Given the description of an element on the screen output the (x, y) to click on. 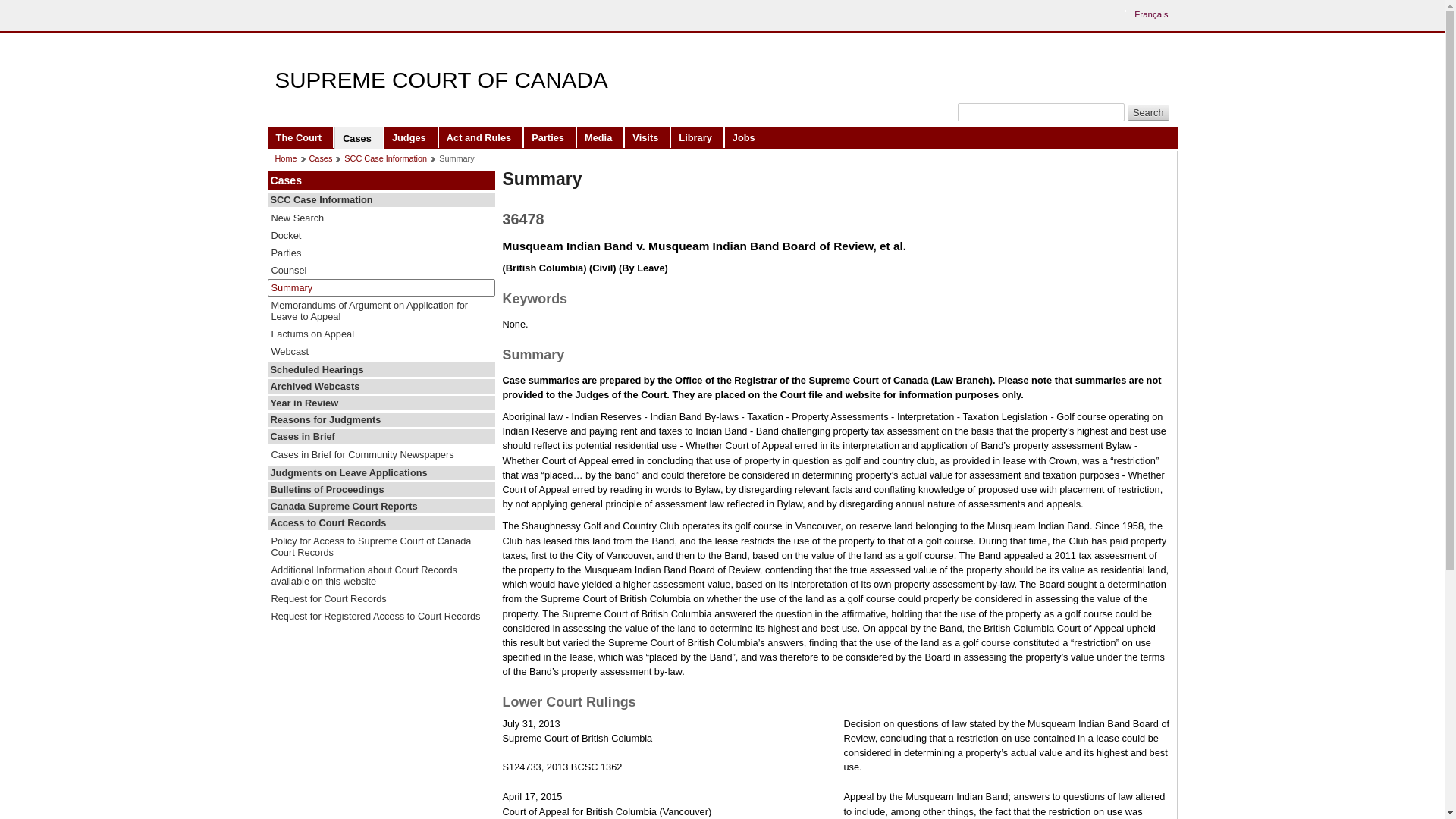
Search (1147, 112)
Search (1147, 112)
SUPREME COURT OF CANADA (441, 80)
Skip to main content (726, 11)
The Court (300, 136)
Cases (358, 137)
